Given the description of an element on the screen output the (x, y) to click on. 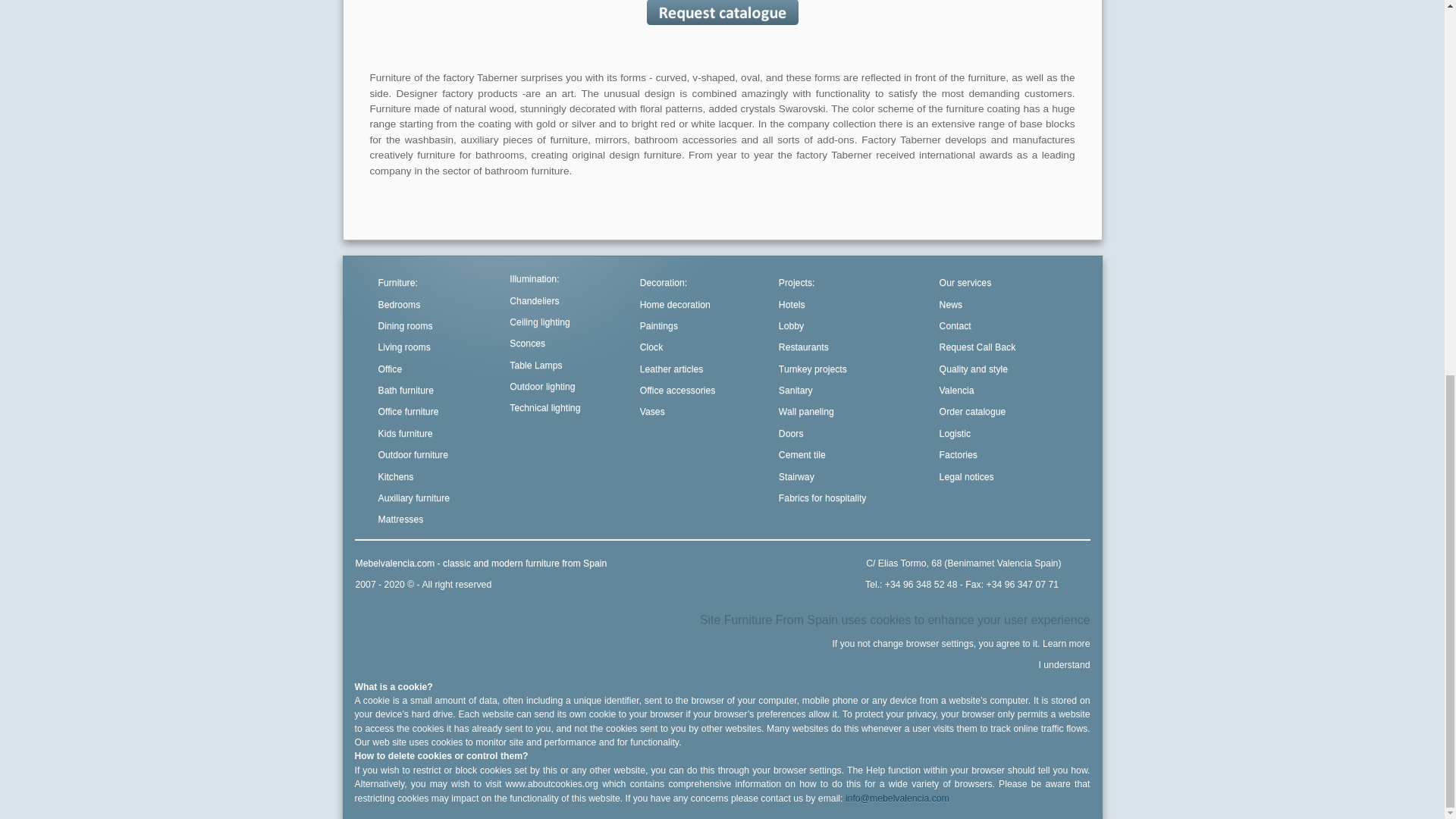
Request catalogue (721, 10)
Furniture (396, 282)
